Given the description of an element on the screen output the (x, y) to click on. 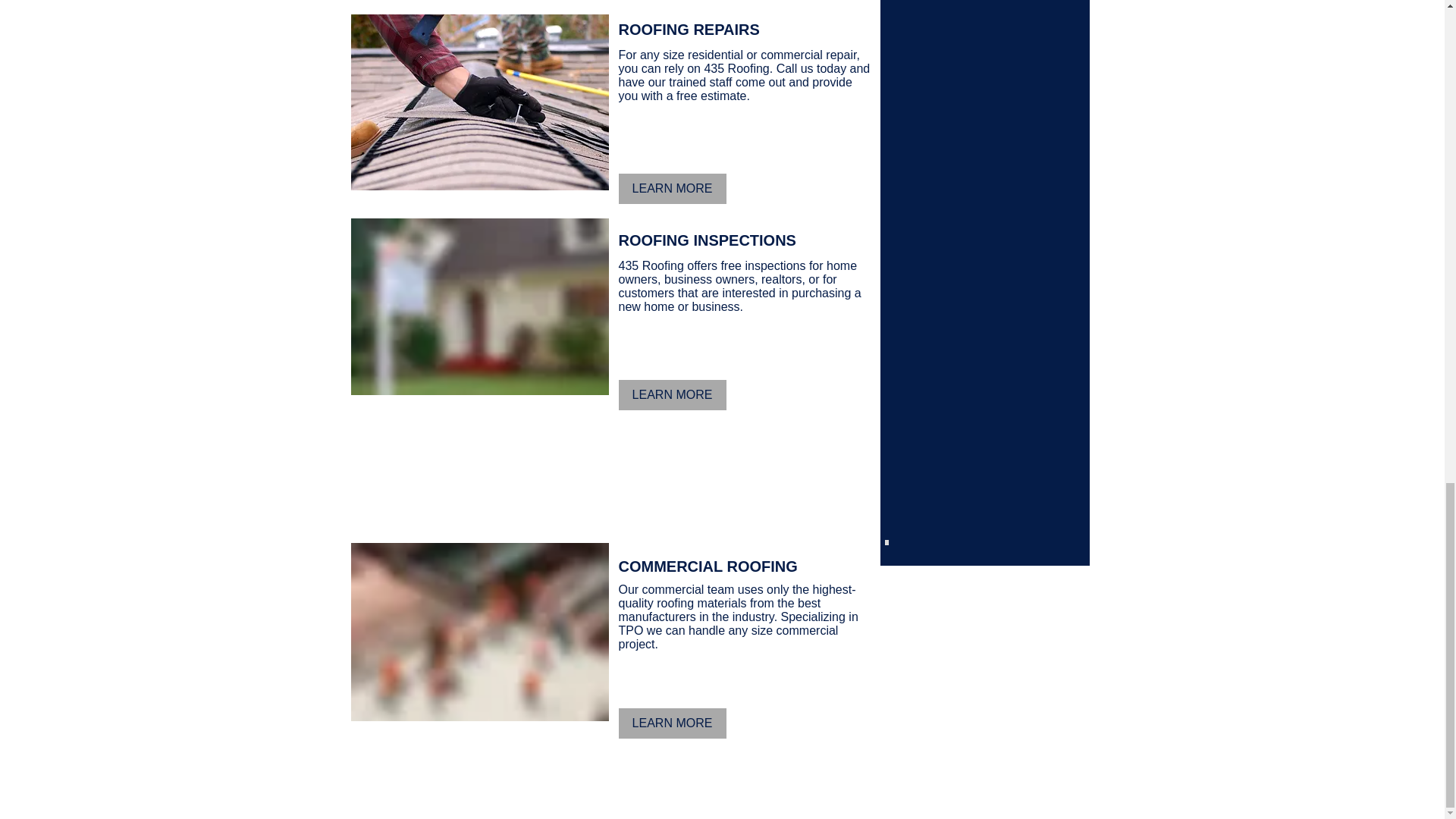
LEARN MORE (672, 395)
LEARN MORE (672, 188)
Embedded Content (989, 467)
LEARN MORE (672, 723)
